Given the description of an element on the screen output the (x, y) to click on. 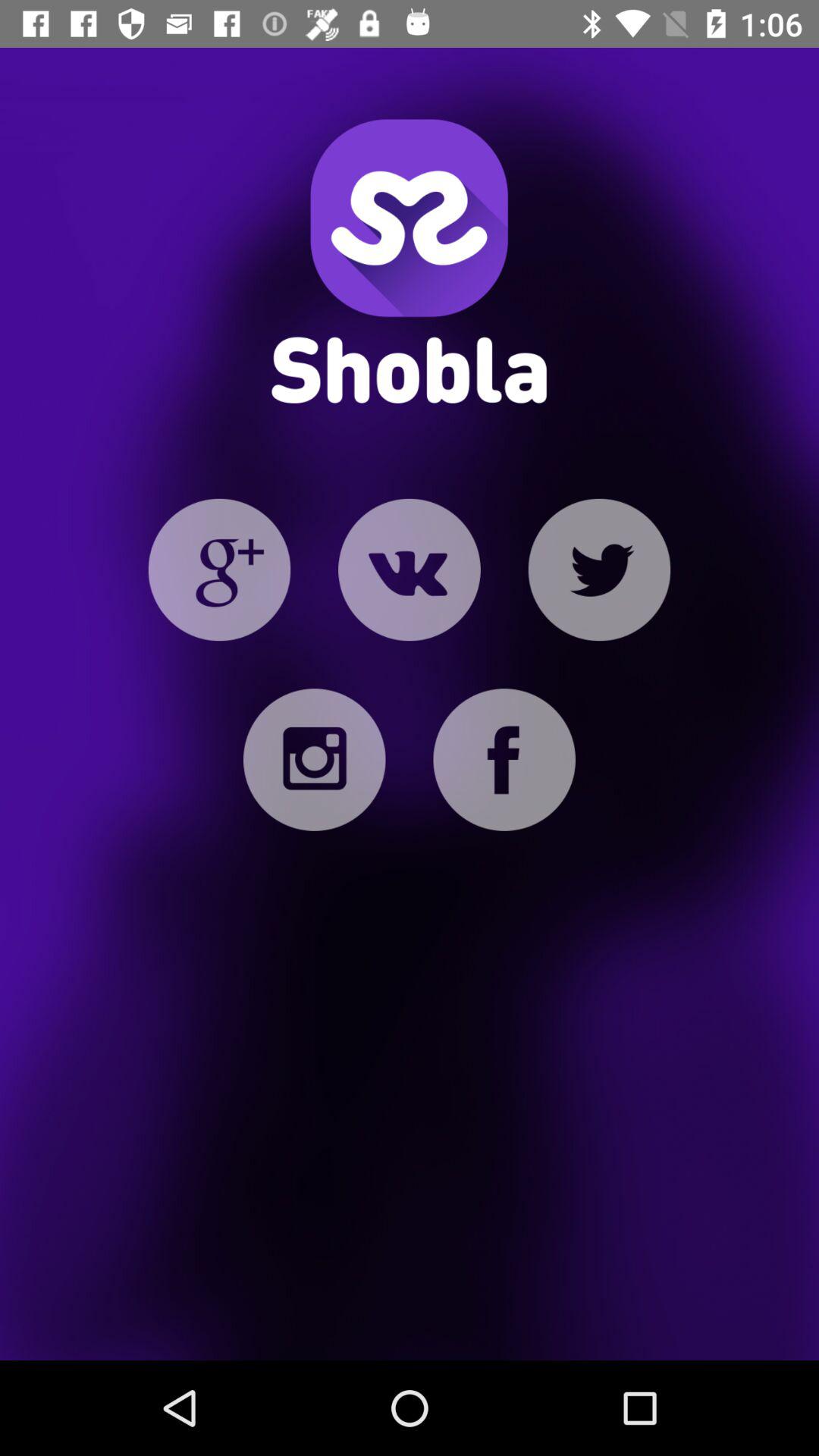
go to facebook (504, 759)
